Given the description of an element on the screen output the (x, y) to click on. 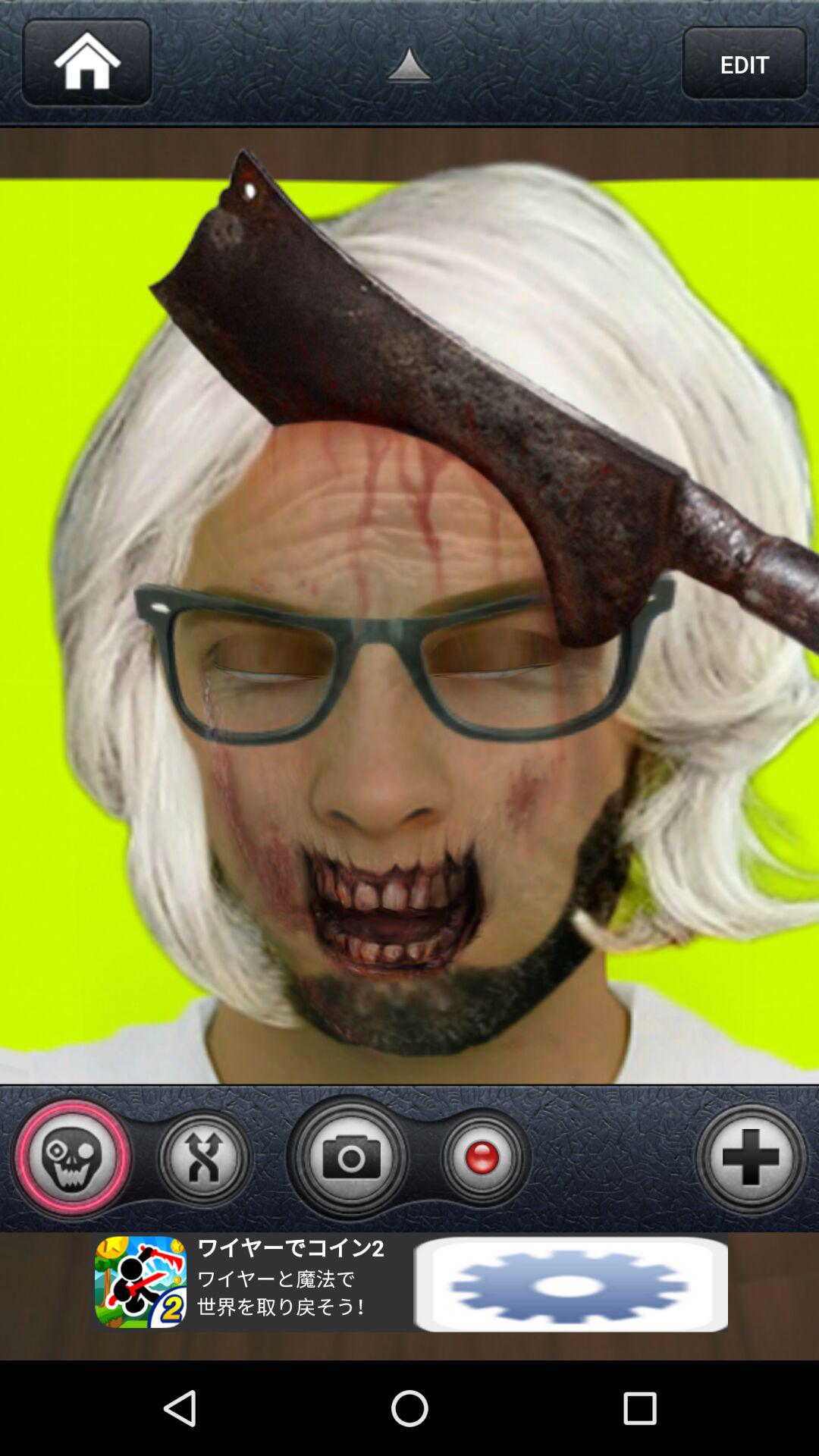
redirects you to offer page (409, 1282)
